Given the description of an element on the screen output the (x, y) to click on. 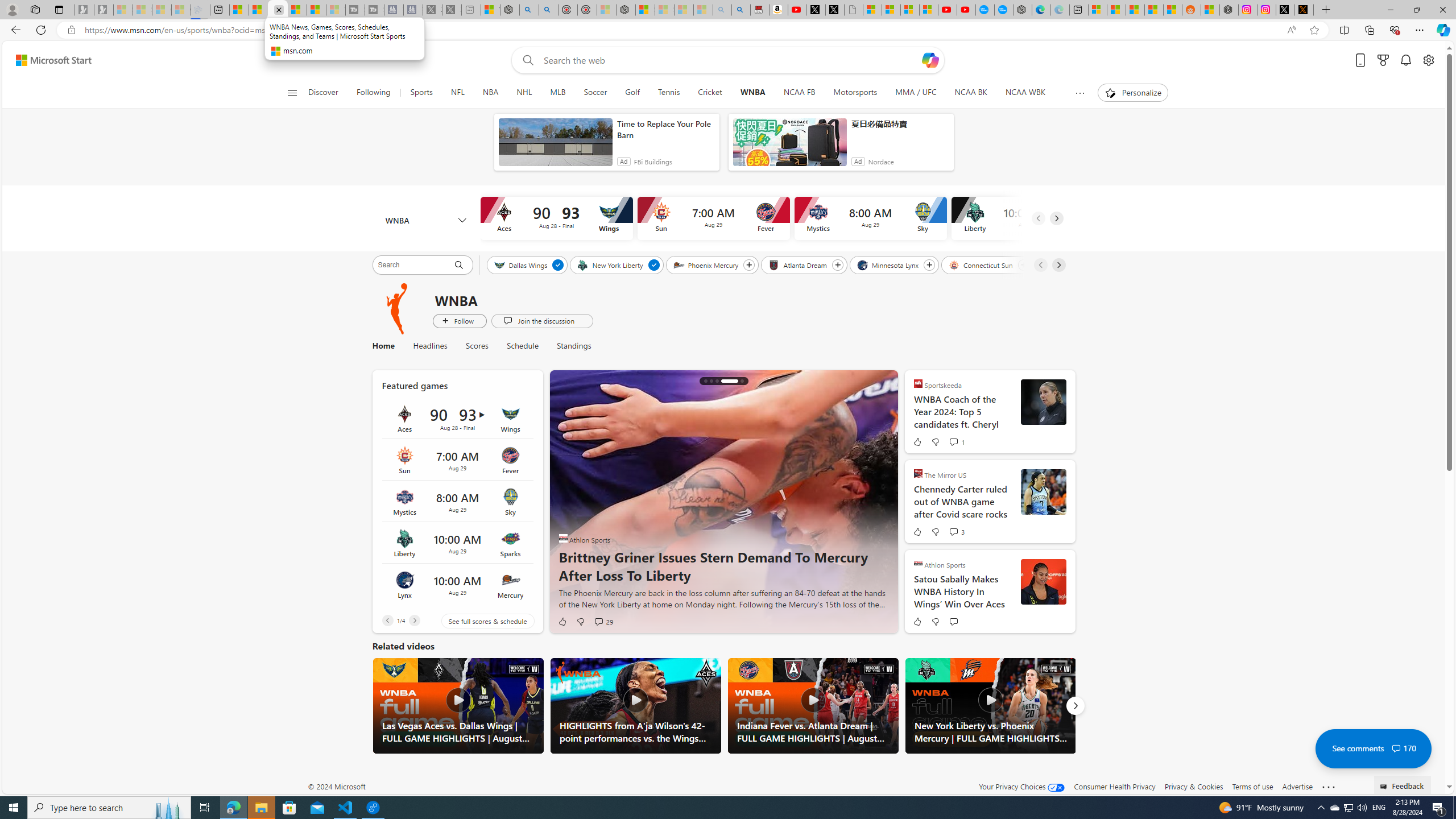
FBi Buildings (652, 161)
Start the conversation (953, 621)
Tennis (667, 92)
NCAA FB (799, 92)
Log in to X / X (1285, 9)
See full scores & schedule (478, 620)
